Given the description of an element on the screen output the (x, y) to click on. 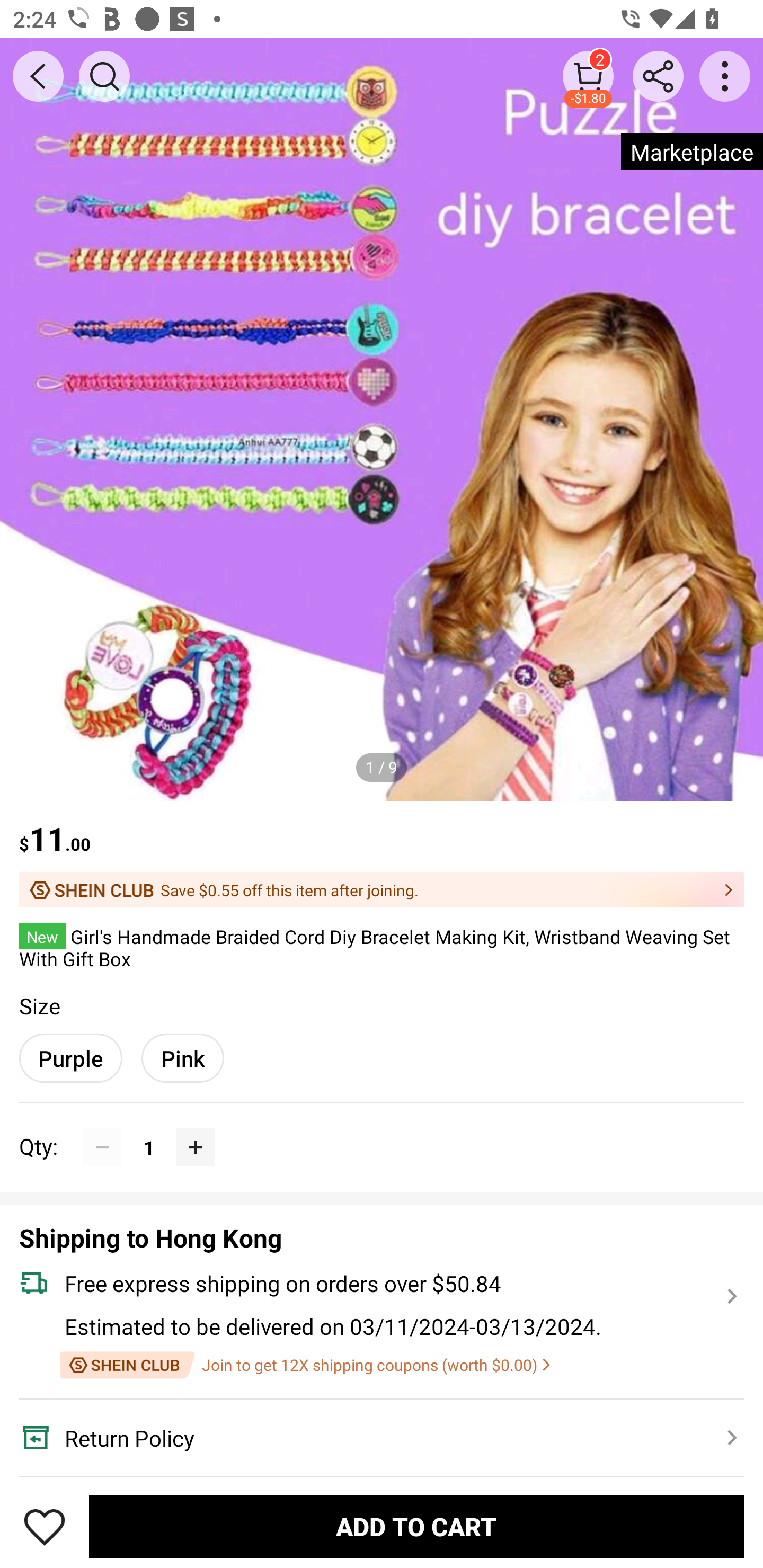
PHOTOS Marketplace 1 / 9 (381, 419)
BACK (38, 75)
2 -$1.80 (588, 75)
1 / 9 (381, 766)
$11.00 Save $0.55 off this item after joining. (381, 854)
Save $0.55 off this item after joining. (381, 889)
Size (39, 1005)
Purple Purpleunselected option (70, 1058)
Pink Pinkunselected option (182, 1058)
Qty: 1 (381, 1127)
Join to get 12X shipping coupons (worth $0.00) (305, 1364)
Return Policy (370, 1437)
ADD TO CART (416, 1526)
Save (44, 1526)
